Given the description of an element on the screen output the (x, y) to click on. 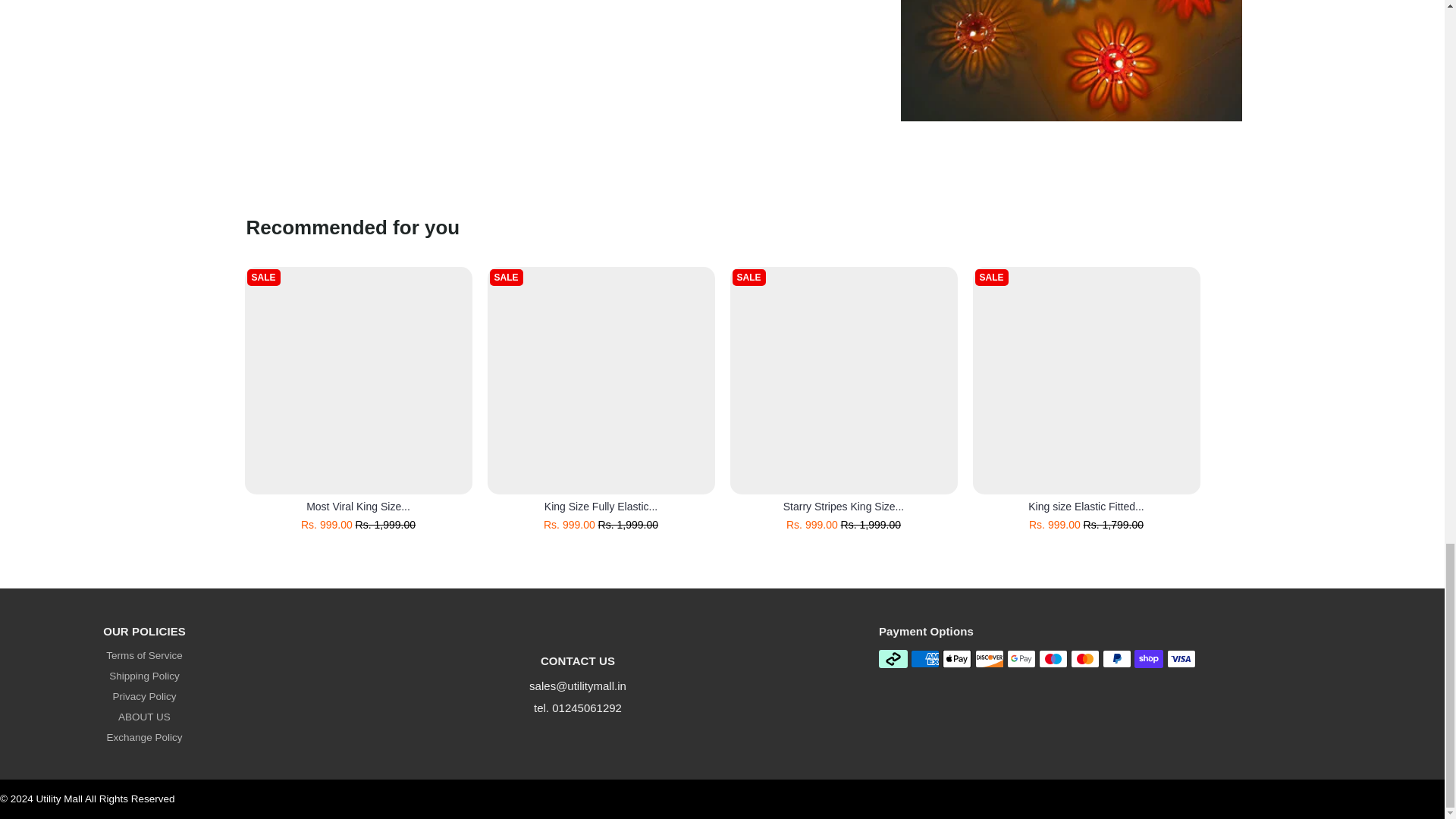
King Size Fully Elastic... (600, 506)
Shipping Policy (144, 675)
SALE (600, 380)
Starry Stripes King Size... (842, 506)
Shop Pay (1148, 659)
ABOUT US (144, 716)
Most Viral King Size... (357, 506)
Terms of Service (144, 655)
Afterpay (893, 659)
Apple Pay (956, 659)
